Given the description of an element on the screen output the (x, y) to click on. 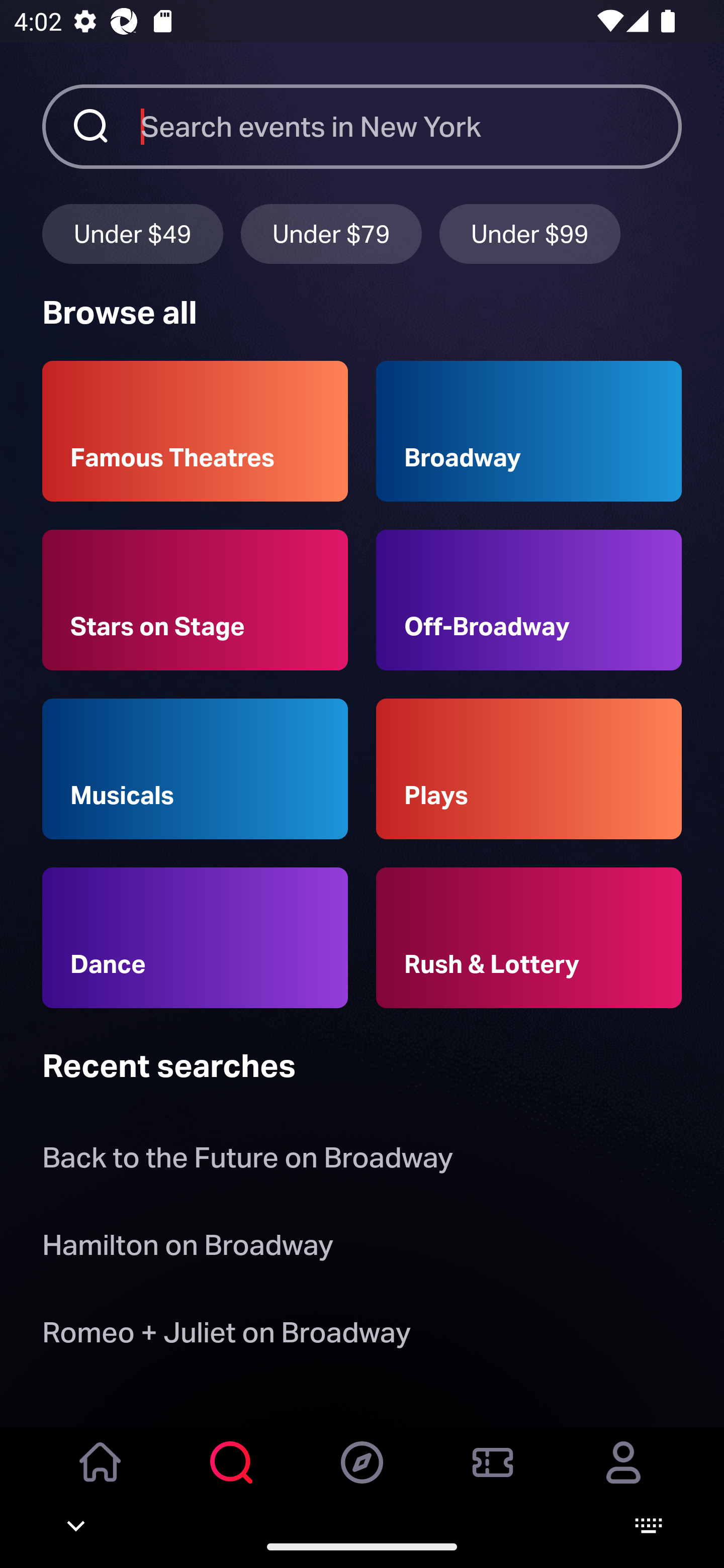
Search events in New York (411, 126)
Under $49 (131, 233)
Under $79 (331, 233)
Under $99 (529, 233)
Famous Theatres (194, 430)
Broadway (528, 430)
Stars on Stage (194, 600)
Off-Broadway (528, 600)
Musicals (194, 768)
Plays (528, 768)
Dance (194, 937)
Rush & Lottery (528, 937)
Back to the Future on Broadway (247, 1161)
Hamilton on Broadway (187, 1248)
Romeo + Juliet on Broadway (225, 1335)
Home (100, 1475)
Discover (361, 1475)
Orders (492, 1475)
Account (623, 1475)
